Given the description of an element on the screen output the (x, y) to click on. 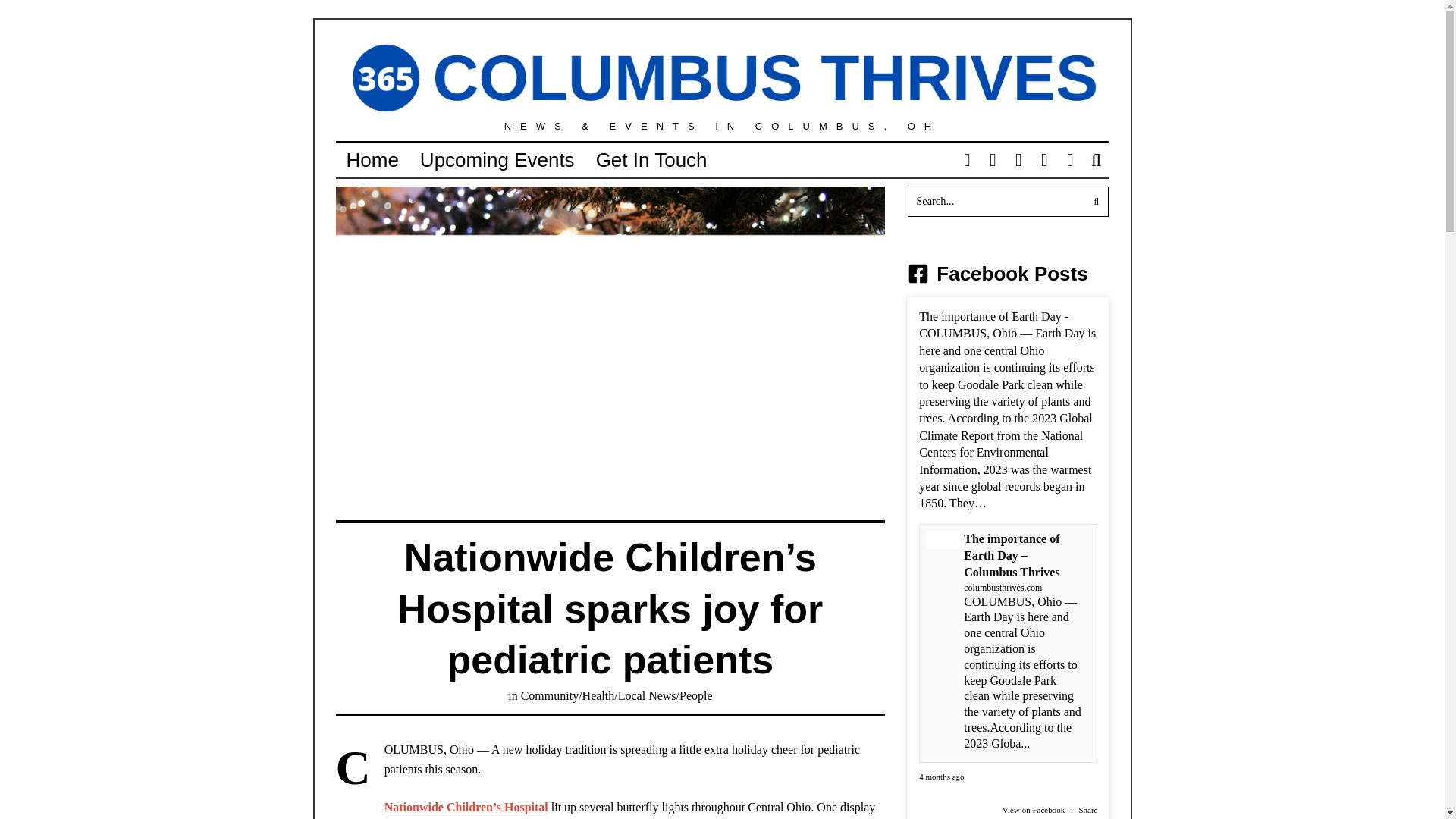
Community (549, 695)
View on Facebook (1033, 809)
Share (1087, 809)
Go (1093, 201)
Upcoming Events (497, 159)
Get In Touch (651, 159)
People (696, 695)
Health (598, 695)
Home (371, 159)
Local News (647, 695)
